Given the description of an element on the screen output the (x, y) to click on. 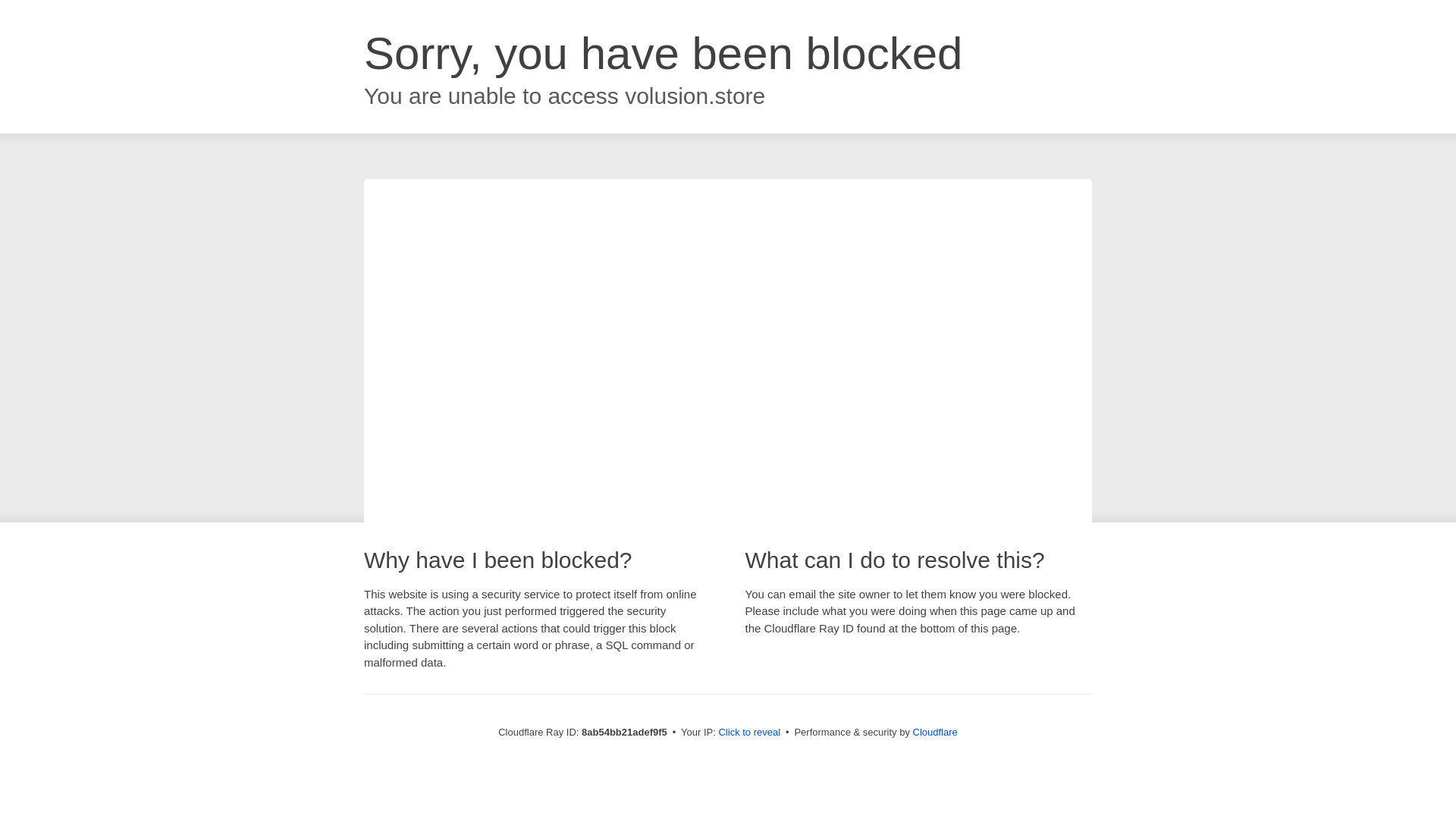
Cloudflare (935, 731)
Click to reveal (748, 732)
